Given the description of an element on the screen output the (x, y) to click on. 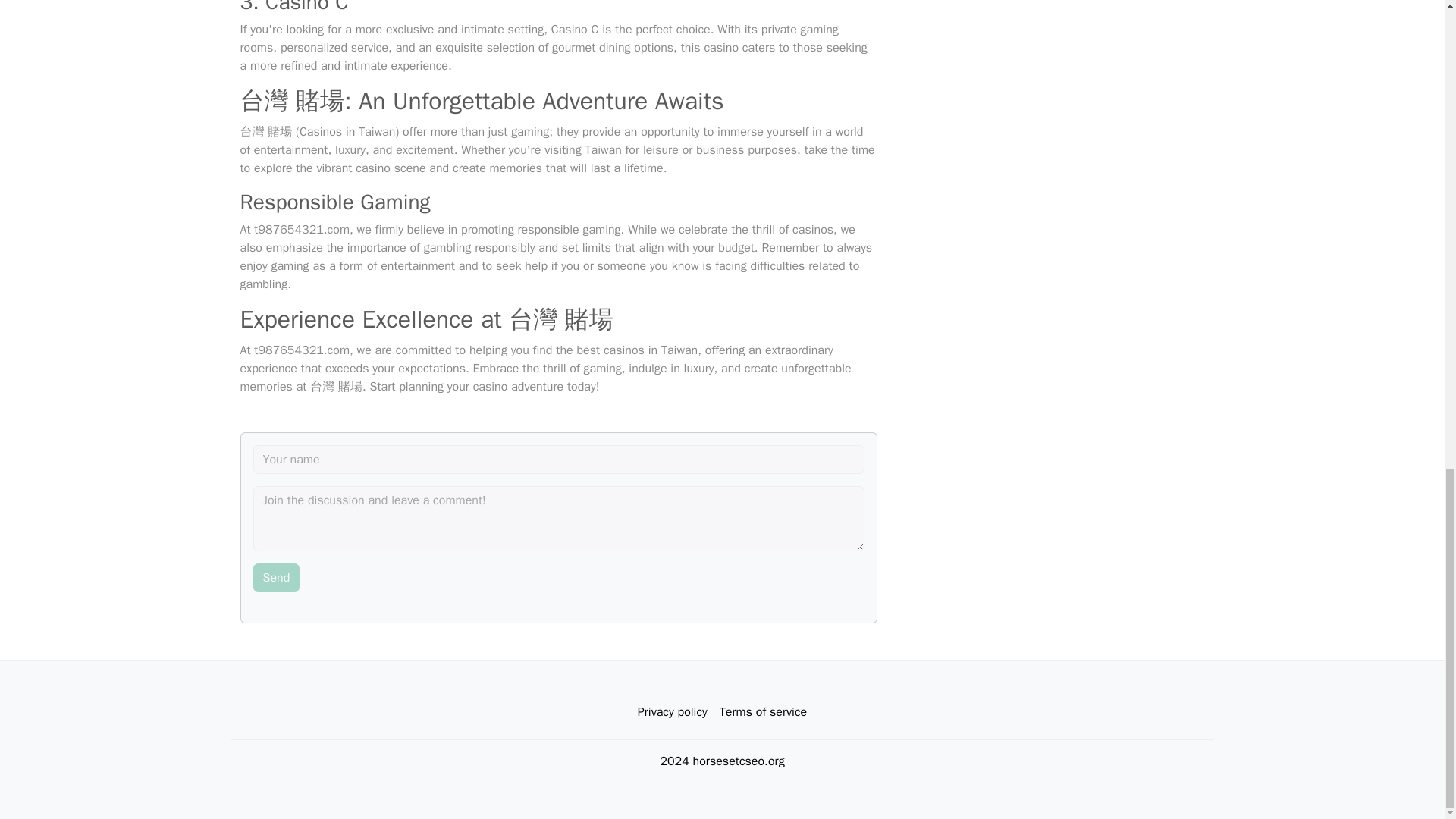
Send (276, 577)
Privacy policy (672, 711)
Terms of service (762, 711)
Send (276, 577)
